Given the description of an element on the screen output the (x, y) to click on. 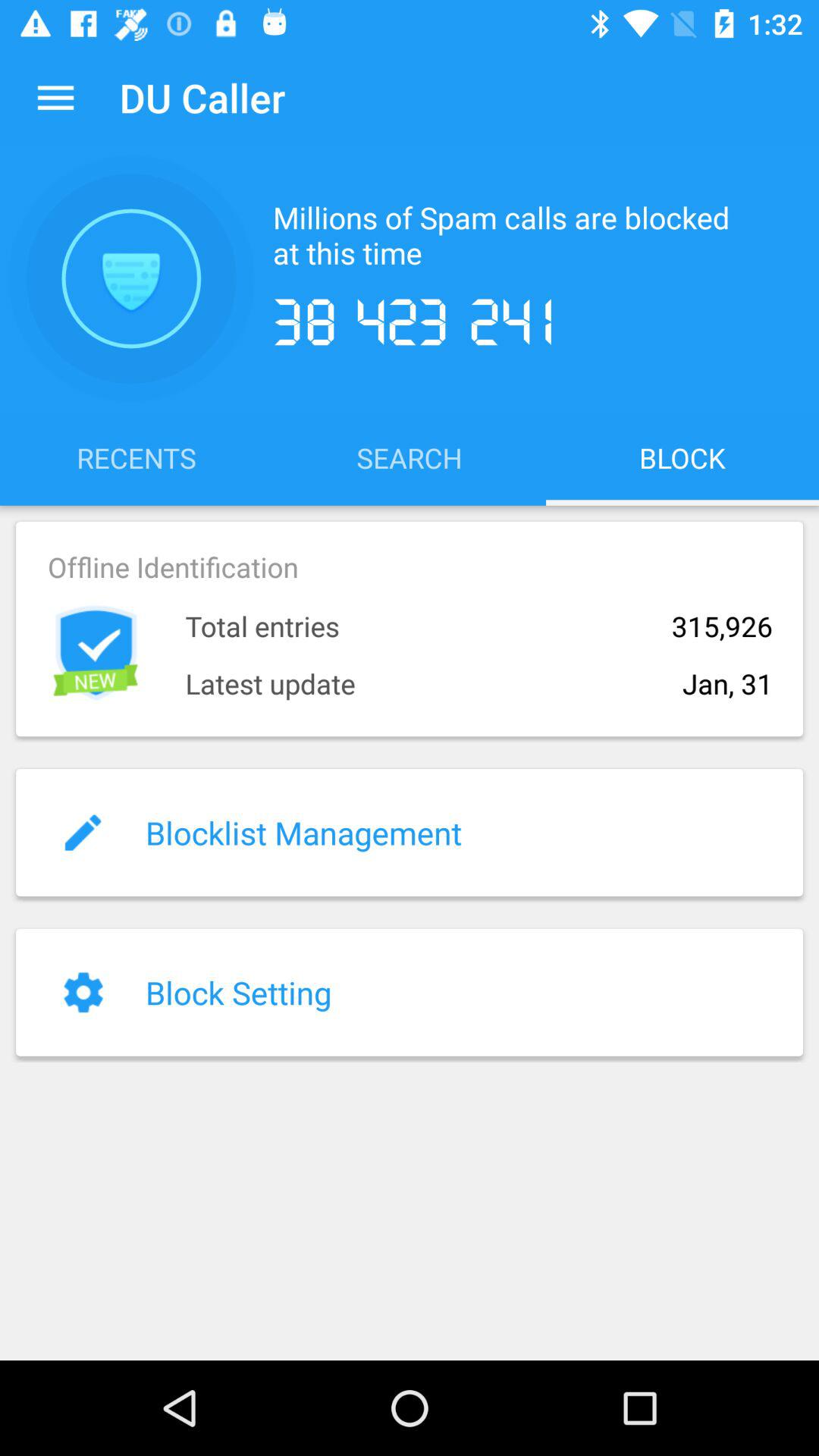
click item next to recents item (409, 457)
